Given the description of an element on the screen output the (x, y) to click on. 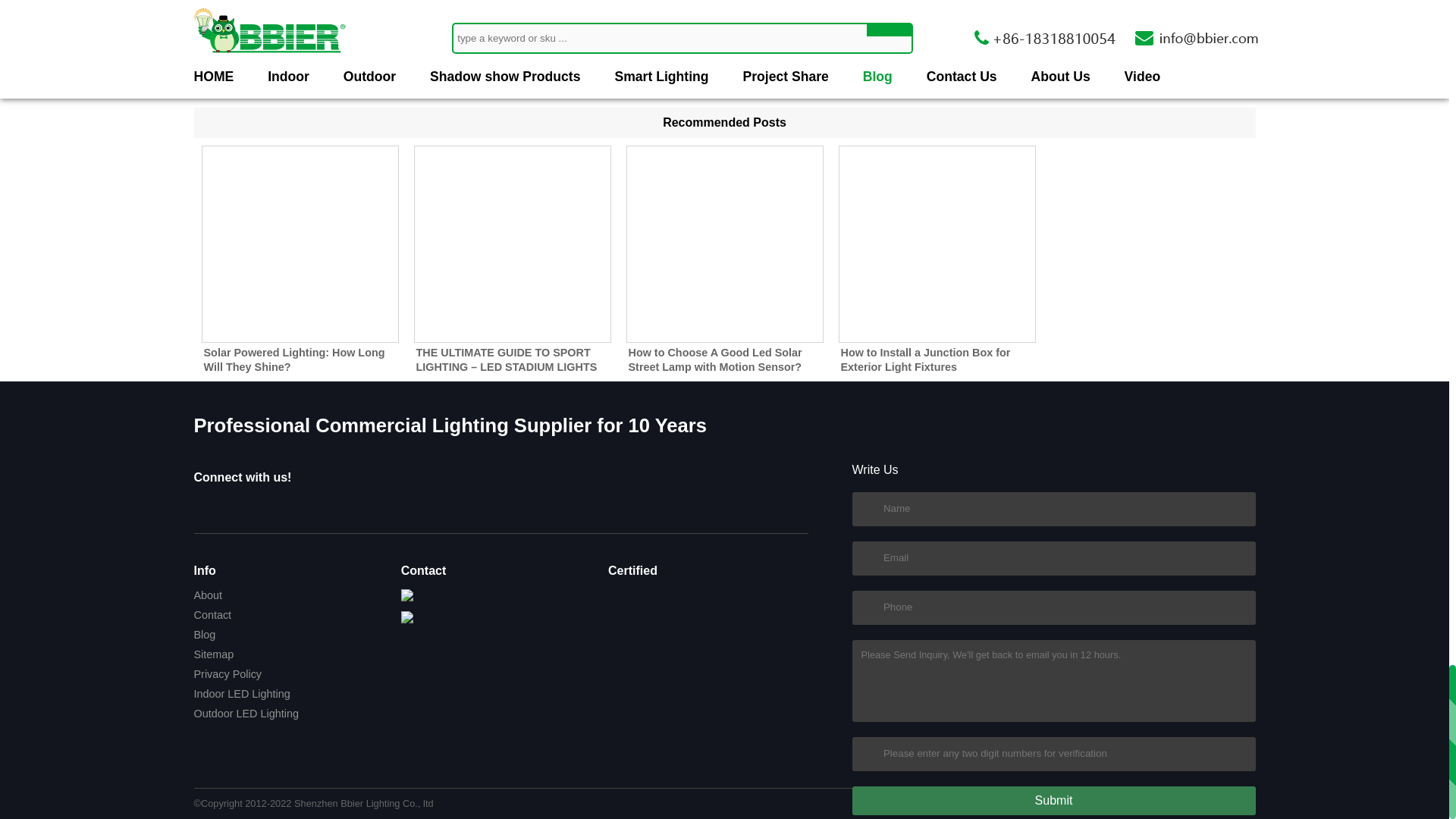
Solar Powered Lighting: How Long Will They Shine? (300, 244)
Submit (1053, 799)
How to Install a Junction Box for Exterior Light Fixtures (936, 244)
How to Install a Junction Box for Exterior Light Fixtures (925, 359)
Solar Powered Lighting: How Long Will They Shine? (293, 359)
